Given the description of an element on the screen output the (x, y) to click on. 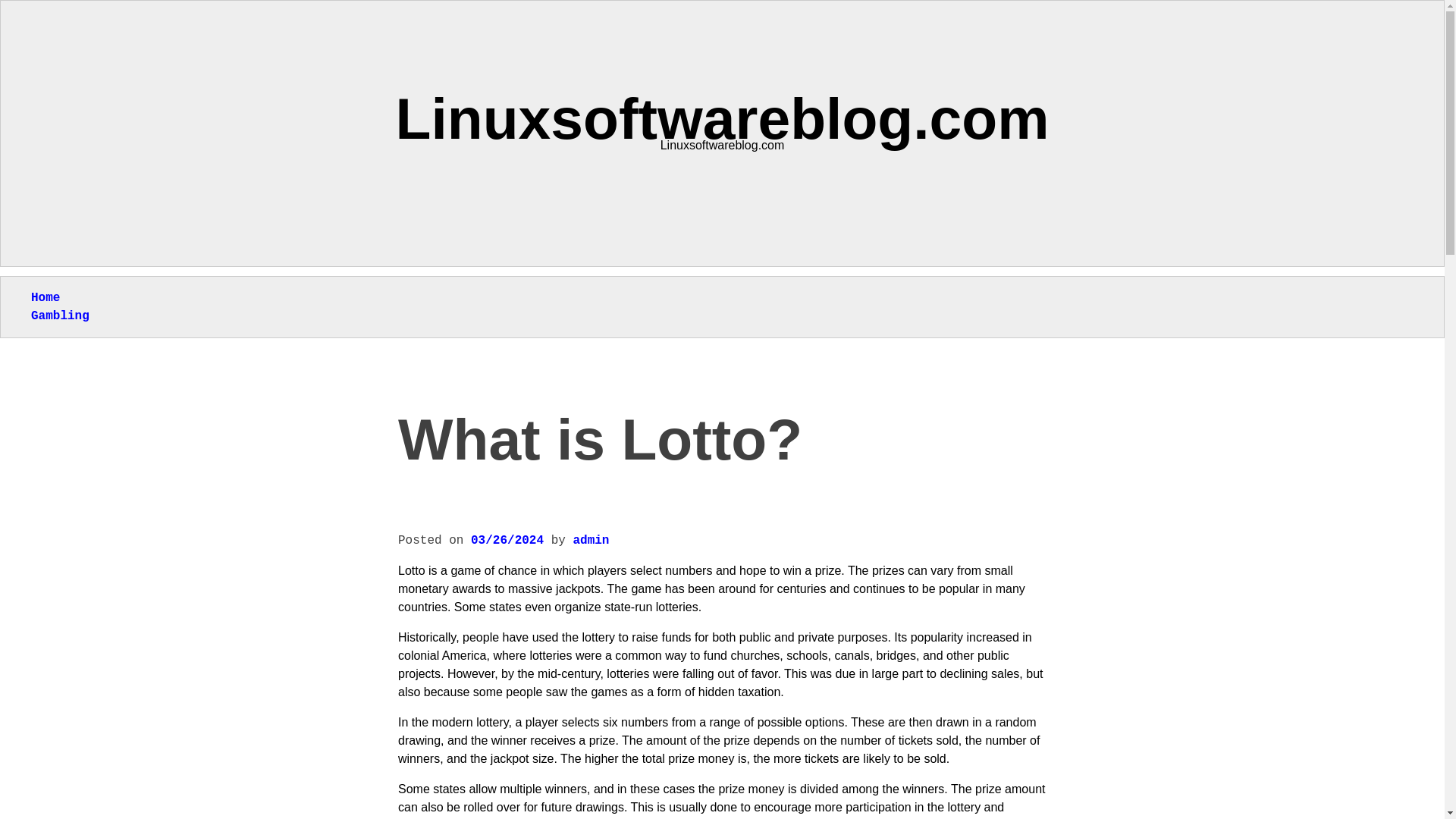
Gambling (59, 315)
Linuxsoftwareblog.com (722, 118)
Home (44, 297)
admin (590, 540)
